Given the description of an element on the screen output the (x, y) to click on. 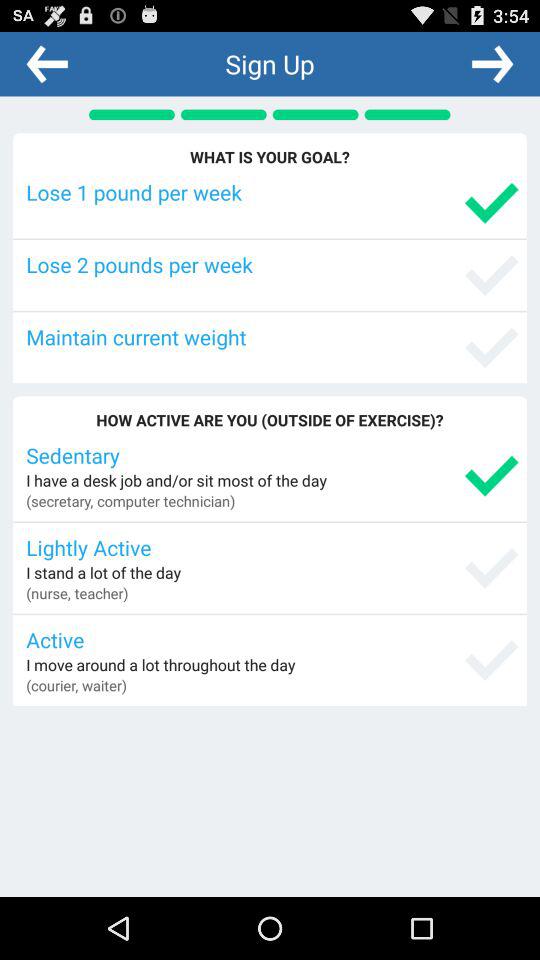
jump to i move around item (160, 664)
